Given the description of an element on the screen output the (x, y) to click on. 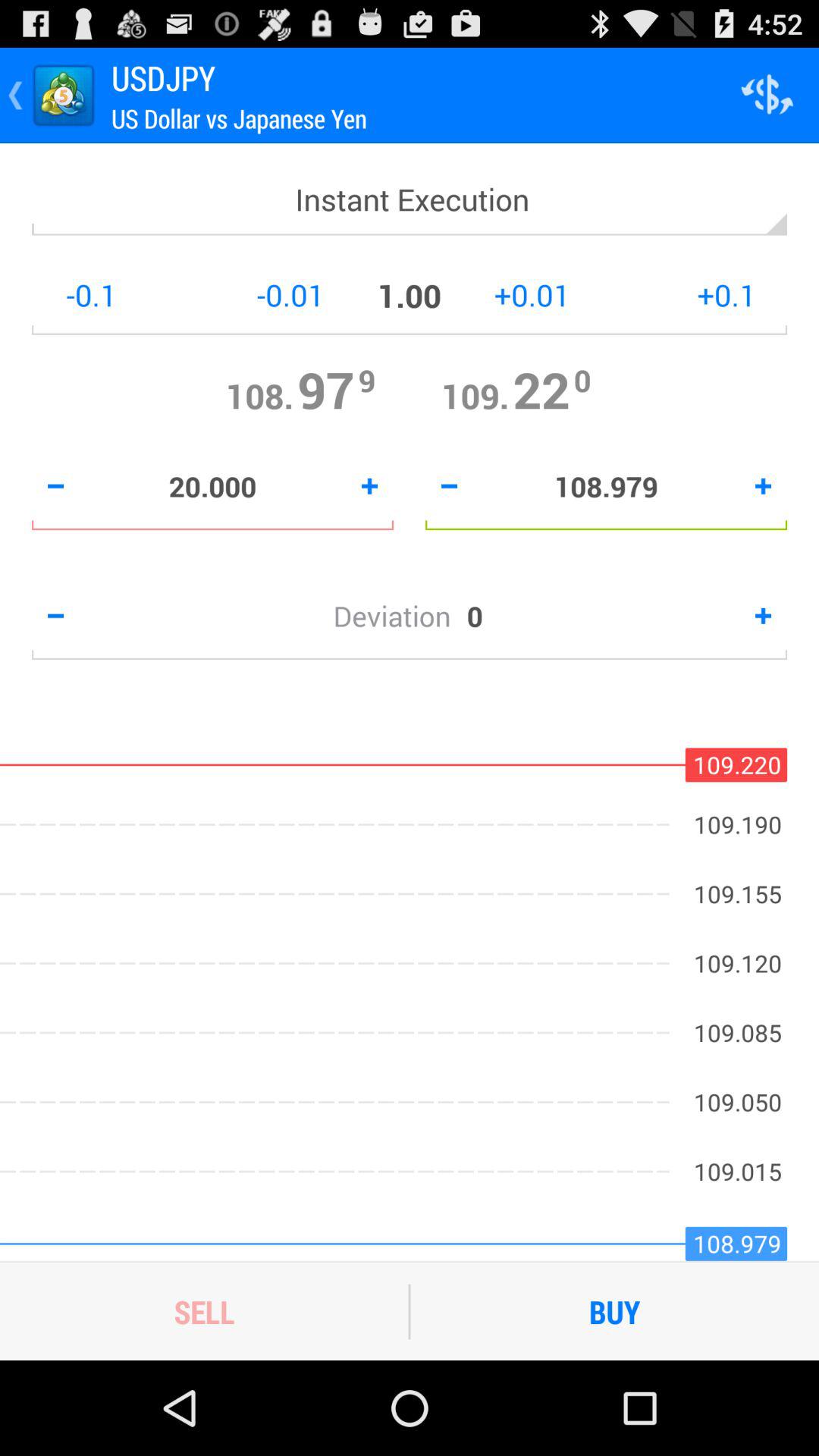
select the  sign which is next to the deviation 0 (763, 615)
go to 100 (409, 295)
click on 001 (233, 295)
click on the 20000 (212, 486)
select the deviation 0 (409, 615)
click on the buy (615, 1311)
instant execution (409, 207)
select the icon which is below 452 (767, 95)
